Given the description of an element on the screen output the (x, y) to click on. 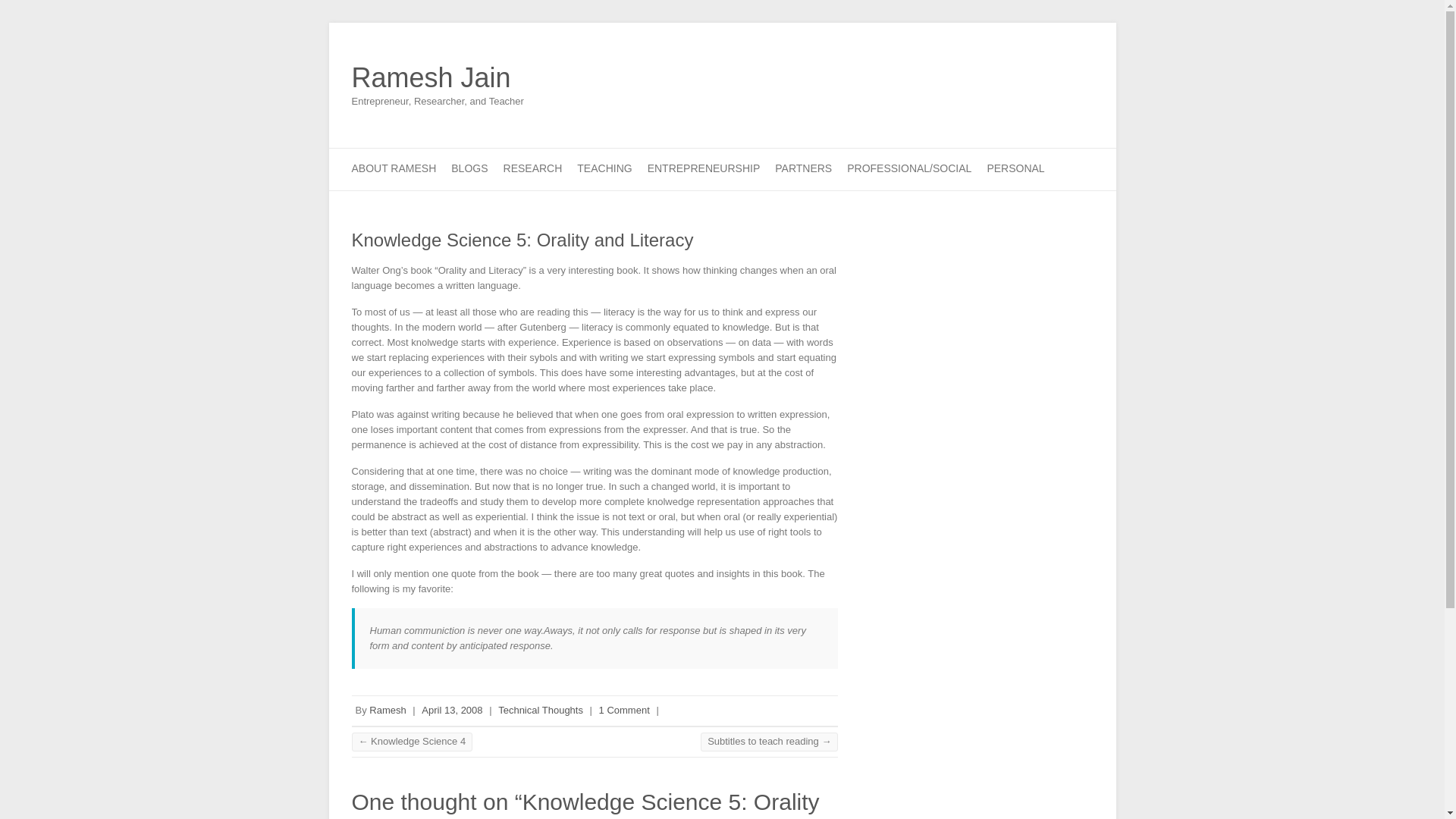
PARTNERS (802, 169)
10:45 pm (451, 709)
ENTREPRENEURSHIP (703, 169)
1 Comment (623, 709)
Ramesh Jain (438, 78)
PERSONAL (1015, 169)
Technical Thoughts (540, 709)
TEACHING (603, 169)
April 13, 2008 (451, 709)
Ramesh Jain (438, 78)
